Given the description of an element on the screen output the (x, y) to click on. 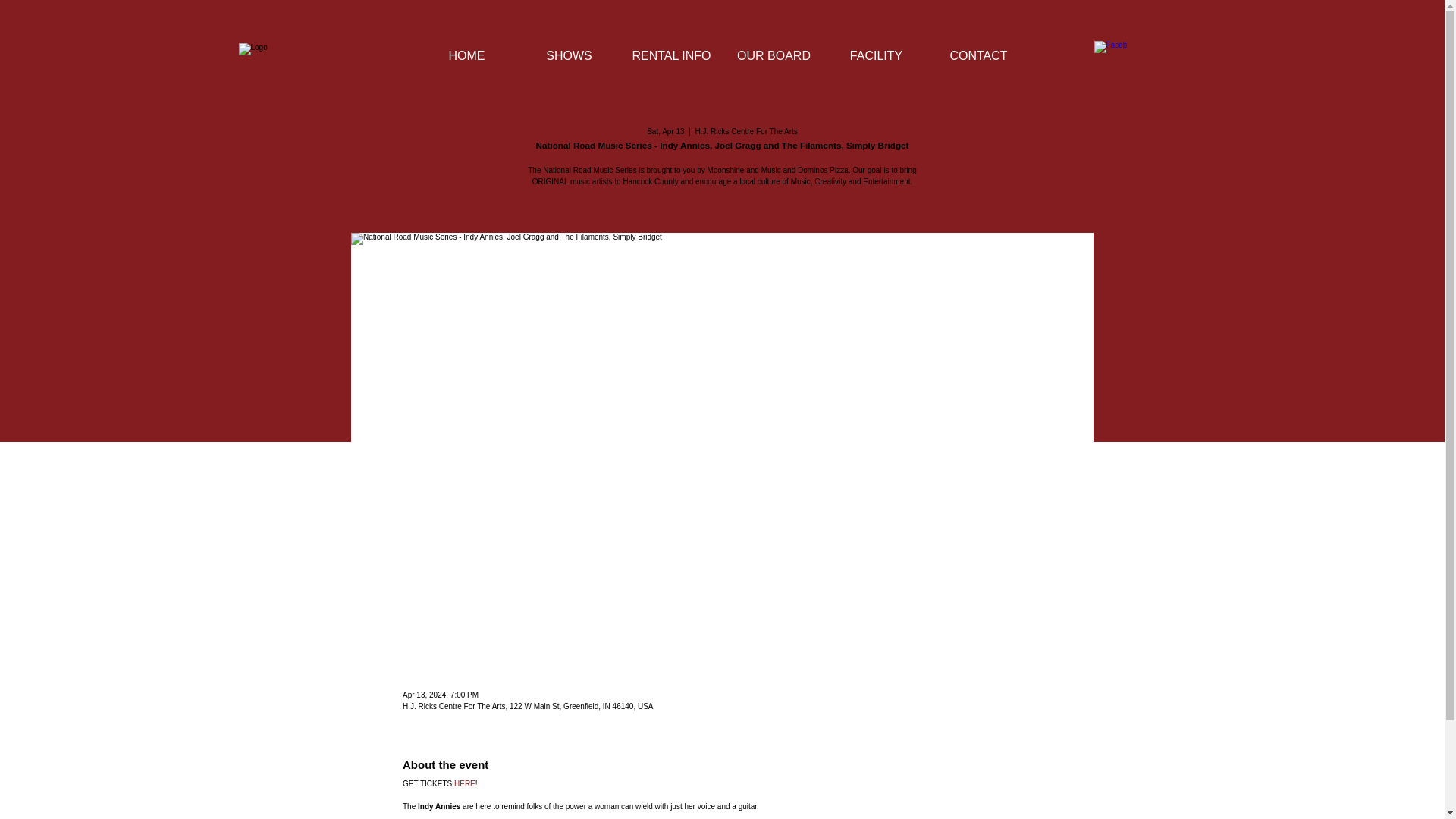
RENTAL INFO (671, 55)
CONTACT (977, 55)
SHOWS (568, 55)
HERE (465, 783)
FACILITY (876, 55)
OUR BOARD (773, 55)
HOME (466, 55)
